Given the description of an element on the screen output the (x, y) to click on. 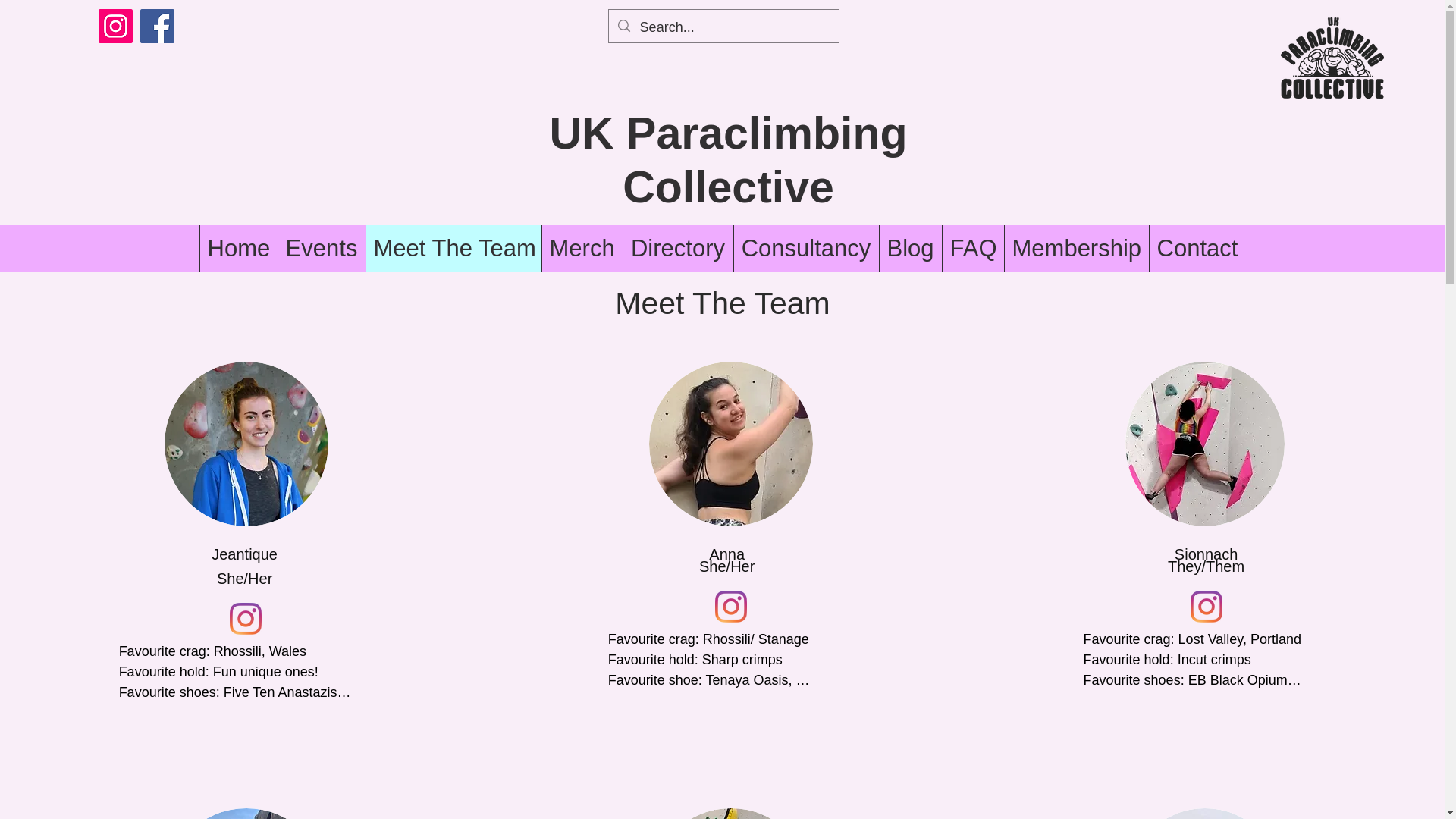
FAQ (973, 248)
Contact (1196, 248)
Membership (1076, 248)
Blog (908, 248)
Meet The Team (453, 248)
UKPC Logo PNG.png (1332, 57)
Consultancy (804, 248)
Merch (582, 248)
Home (237, 248)
